Given the description of an element on the screen output the (x, y) to click on. 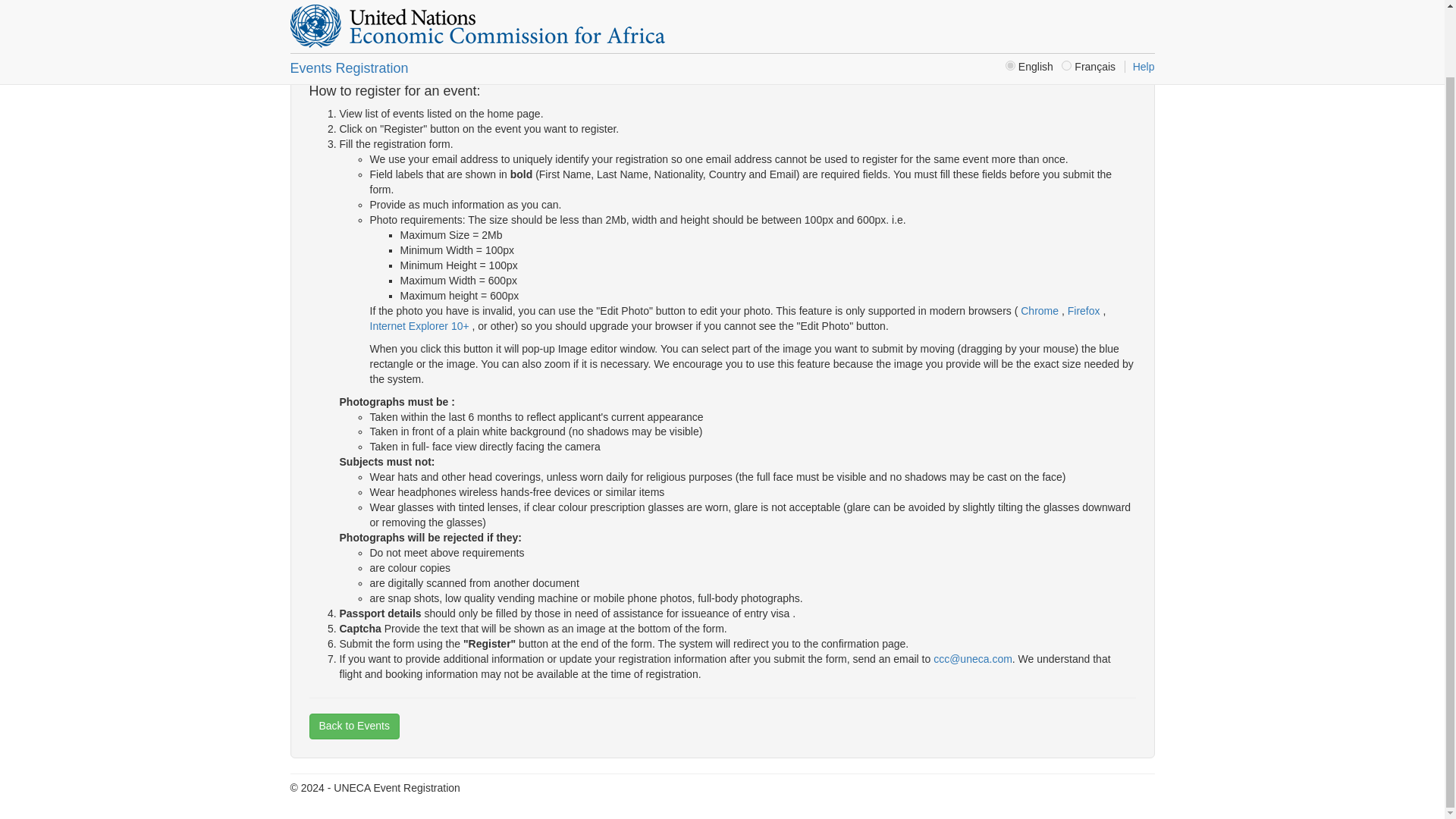
Back to Events (353, 726)
Chrome (1039, 310)
Events Registration (348, 0)
Firefox (1085, 310)
